Given the description of an element on the screen output the (x, y) to click on. 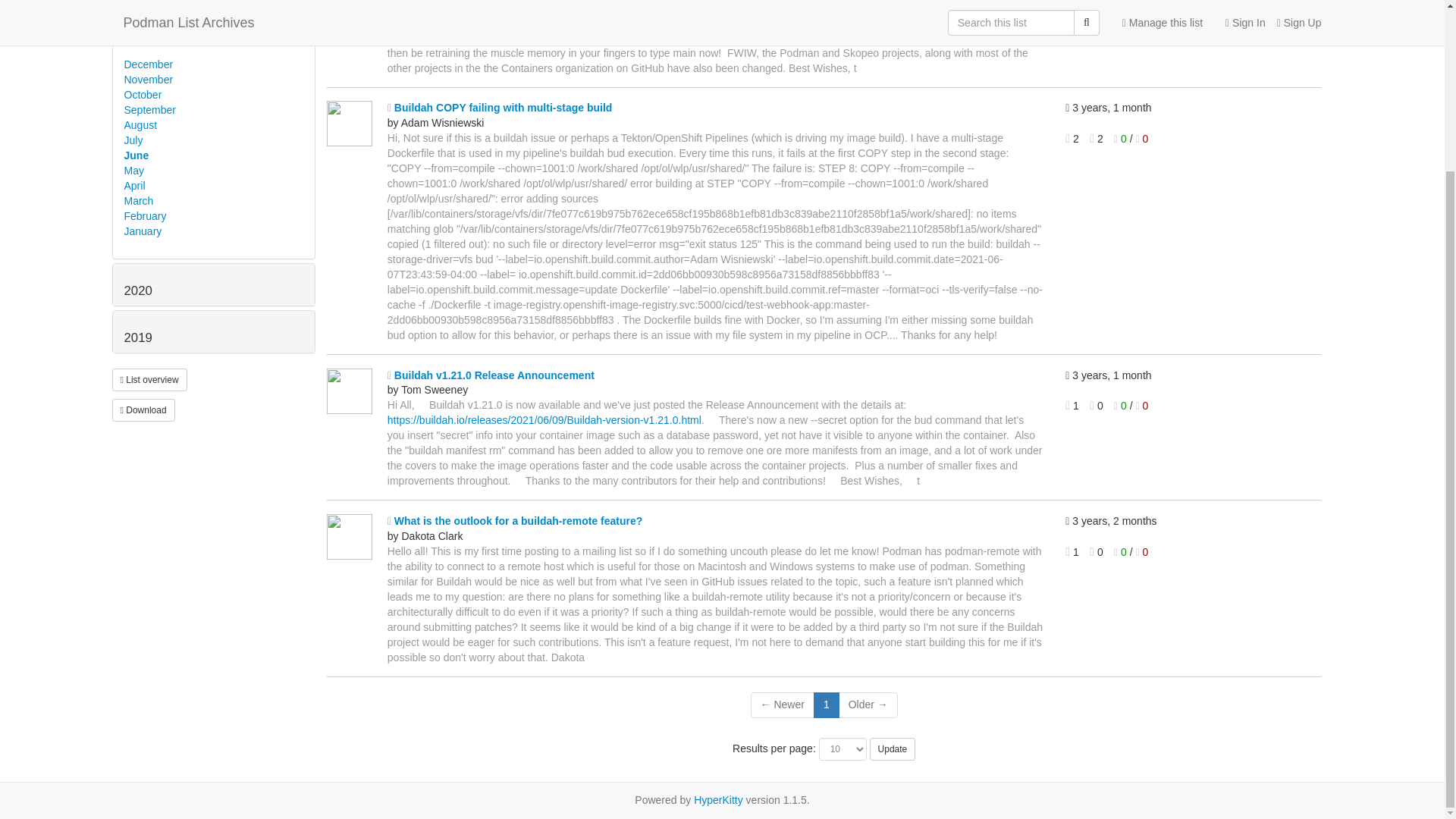
This month in gzipped mbox format (143, 409)
You must be logged-in to vote. (1141, 405)
Tuesday, 1 June 2021 17:19:53 (1180, 521)
Wednesday, 16 June 2021 18:51:49 (1180, 376)
You must be logged-in to vote. (1121, 405)
Monday, 28 June 2021 10:46:08 (1180, 108)
You must be logged-in to vote. (1121, 138)
You must be logged-in to vote. (1141, 8)
You must be logged-in to vote. (1141, 138)
You must be logged-in to vote. (1121, 8)
